Given the description of an element on the screen output the (x, y) to click on. 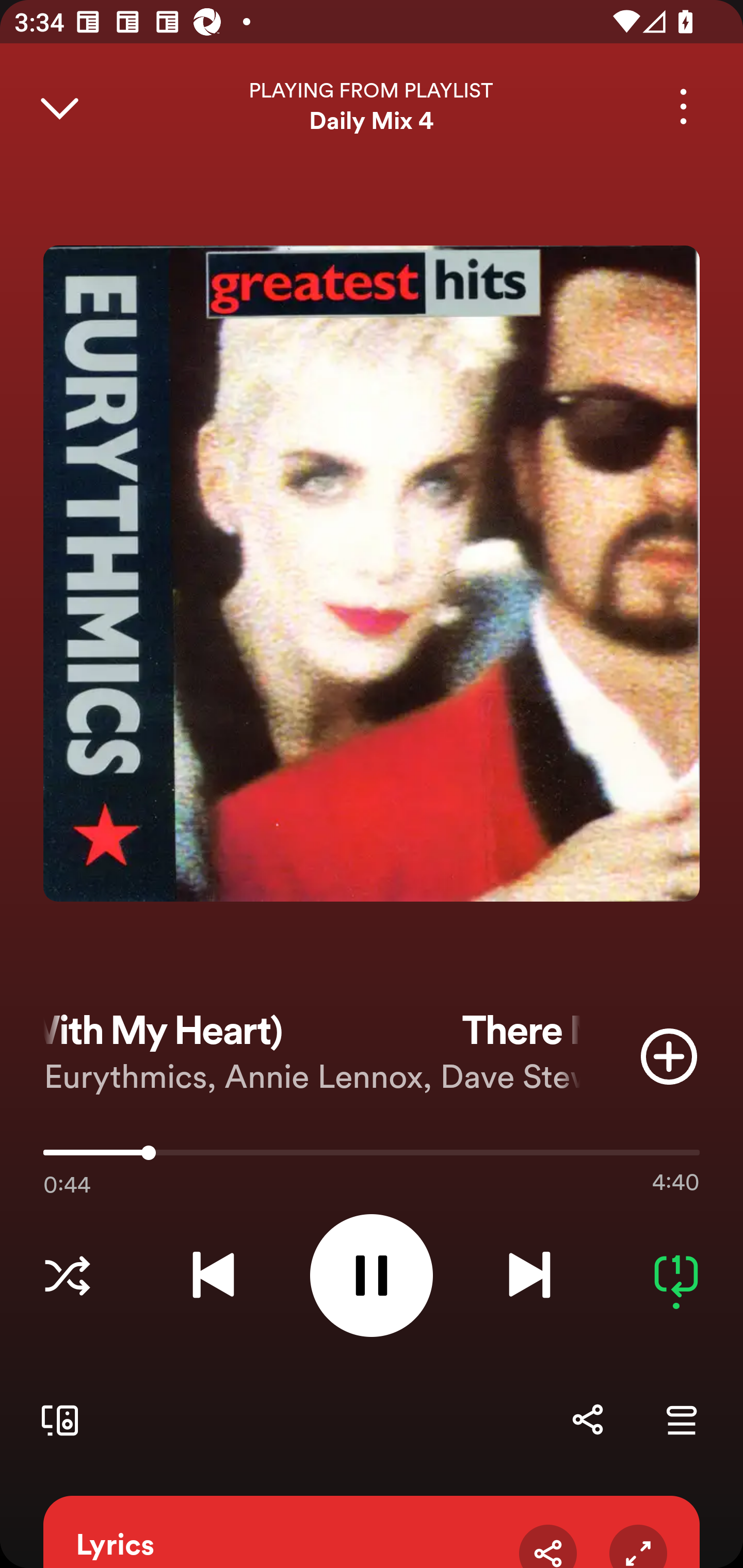
Close (59, 106)
PLAYING FROM PLAYLIST Daily Mix 4 (371, 106)
Add item (669, 1056)
0:44 4:40 44547.0 Use volume keys to adjust (371, 1157)
Pause (371, 1275)
Previous (212, 1275)
Next (529, 1275)
Choose a Listening Mode (66, 1275)
Repeat (676, 1275)
Share (587, 1419)
Go to Queue (681, 1419)
Connect to a device. Opens the devices menu (55, 1419)
Lyrics Share Expand (371, 1531)
Share (547, 1546)
Expand (638, 1546)
